Given the description of an element on the screen output the (x, y) to click on. 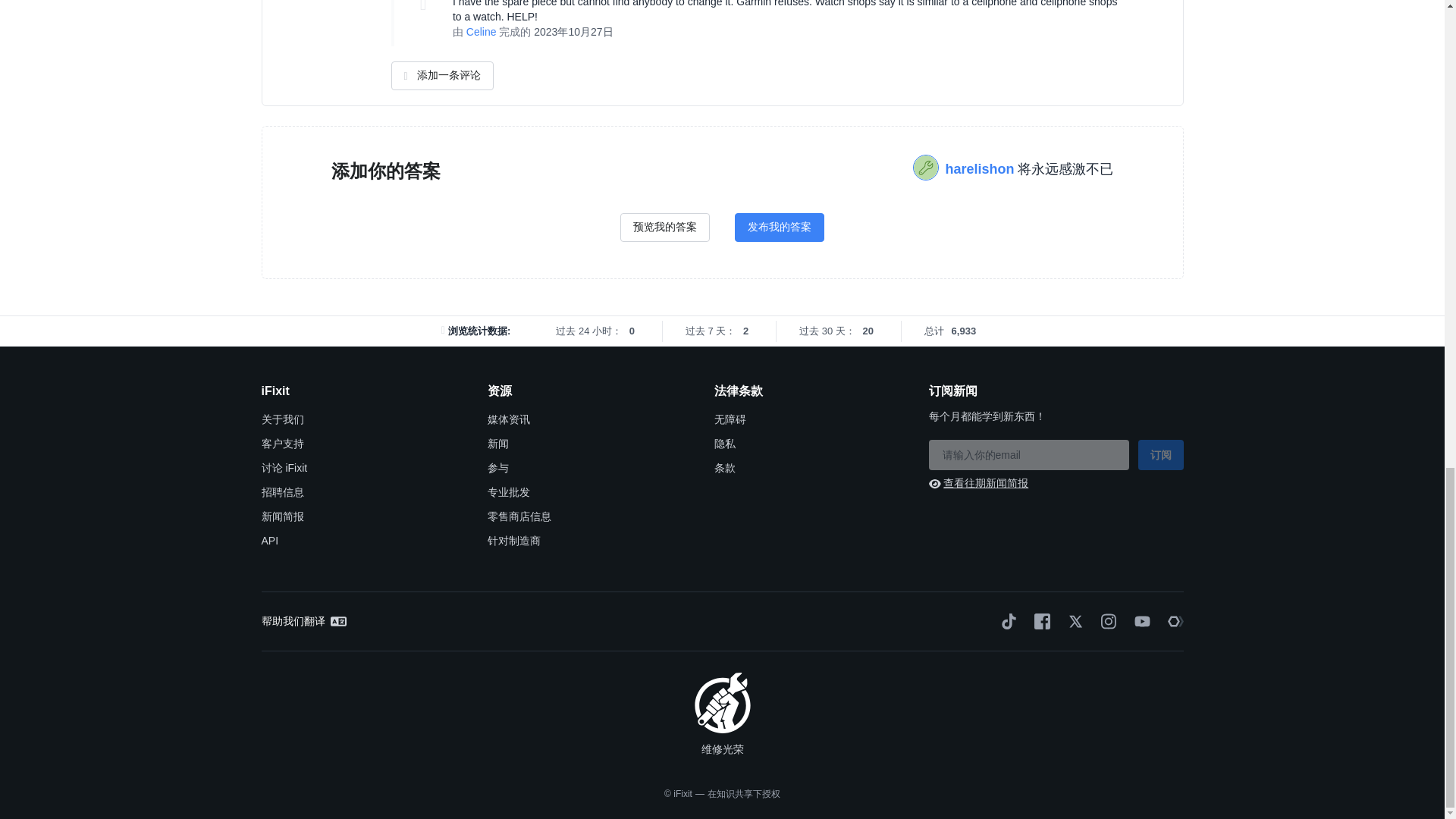
Fri, 27 Oct 2023 13:50:49 -0700 (573, 31)
